Given the description of an element on the screen output the (x, y) to click on. 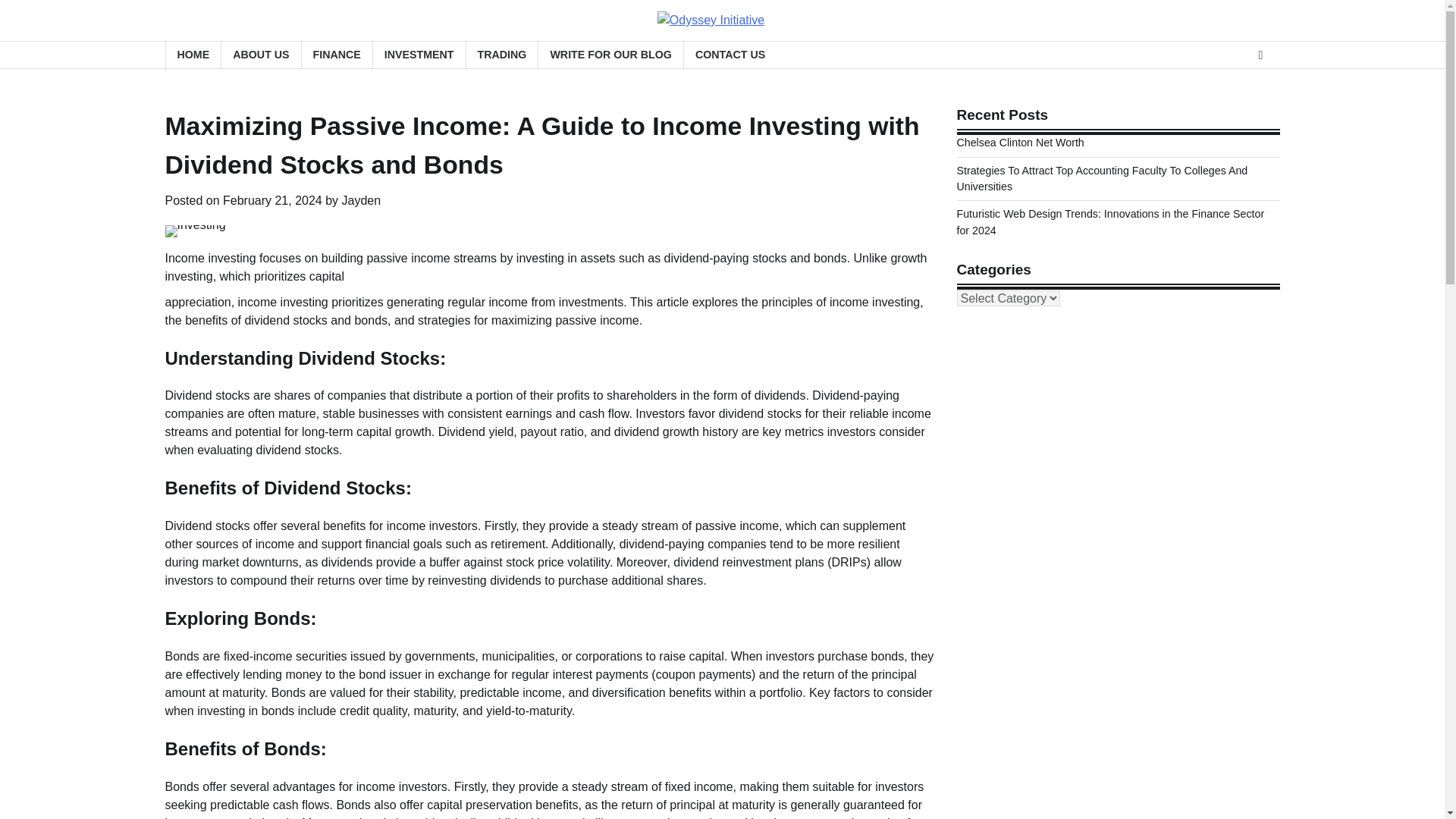
INVESTMENT (418, 54)
ABOUT US (260, 54)
CONTACT US (729, 54)
TRADING (501, 54)
WRITE FOR OUR BLOG (609, 54)
Jayden (361, 200)
Chelsea Clinton Net Worth (1020, 142)
FINANCE (336, 54)
HOME (193, 54)
View Random Post (1260, 55)
February 21, 2024 (271, 200)
